Given the description of an element on the screen output the (x, y) to click on. 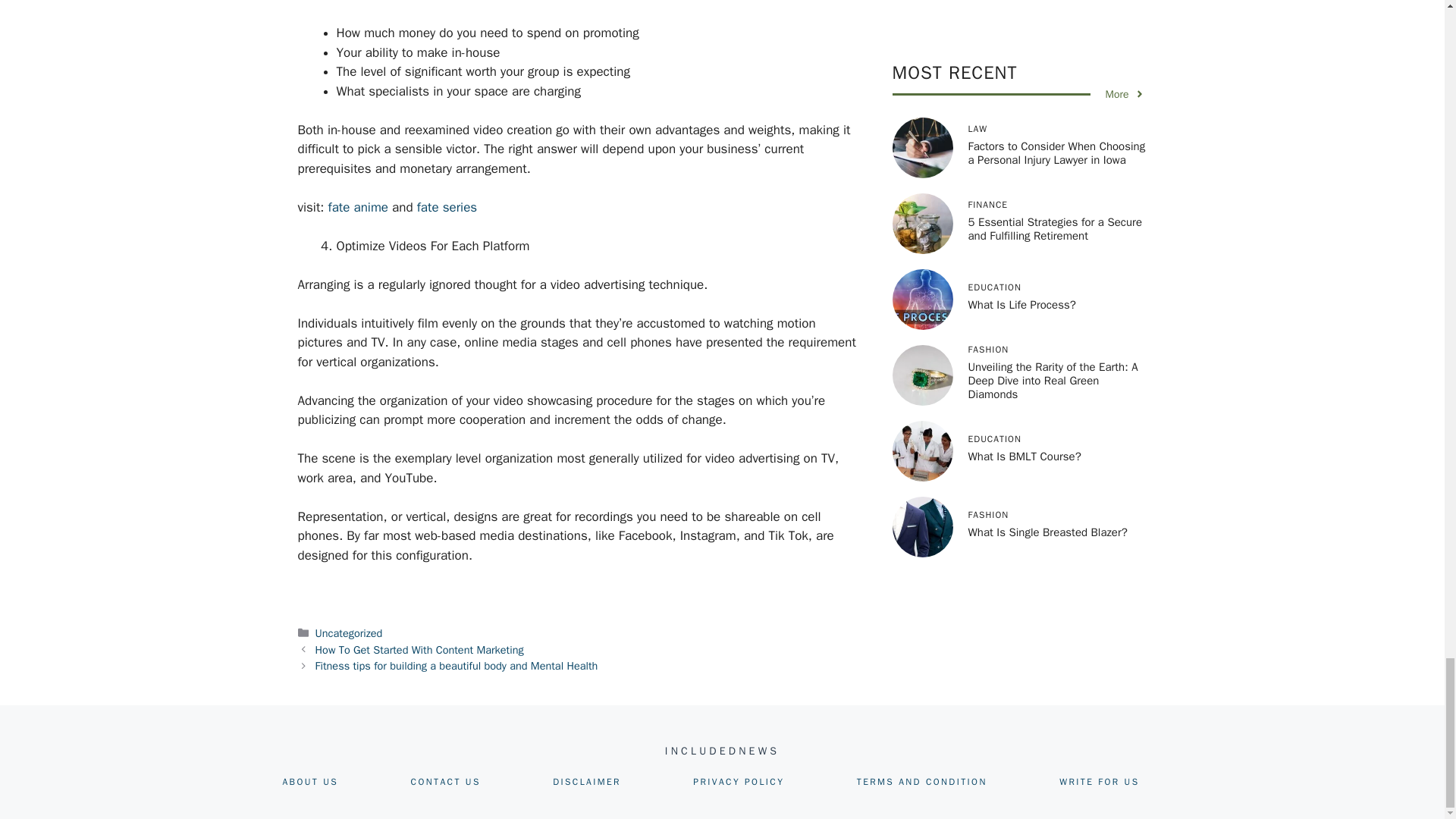
fate series (446, 207)
Fitness tips for building a beautiful body and Mental Health (456, 665)
How To Get Started With Content Marketing (419, 649)
fate anime (358, 207)
Uncategorized (348, 632)
